Given the description of an element on the screen output the (x, y) to click on. 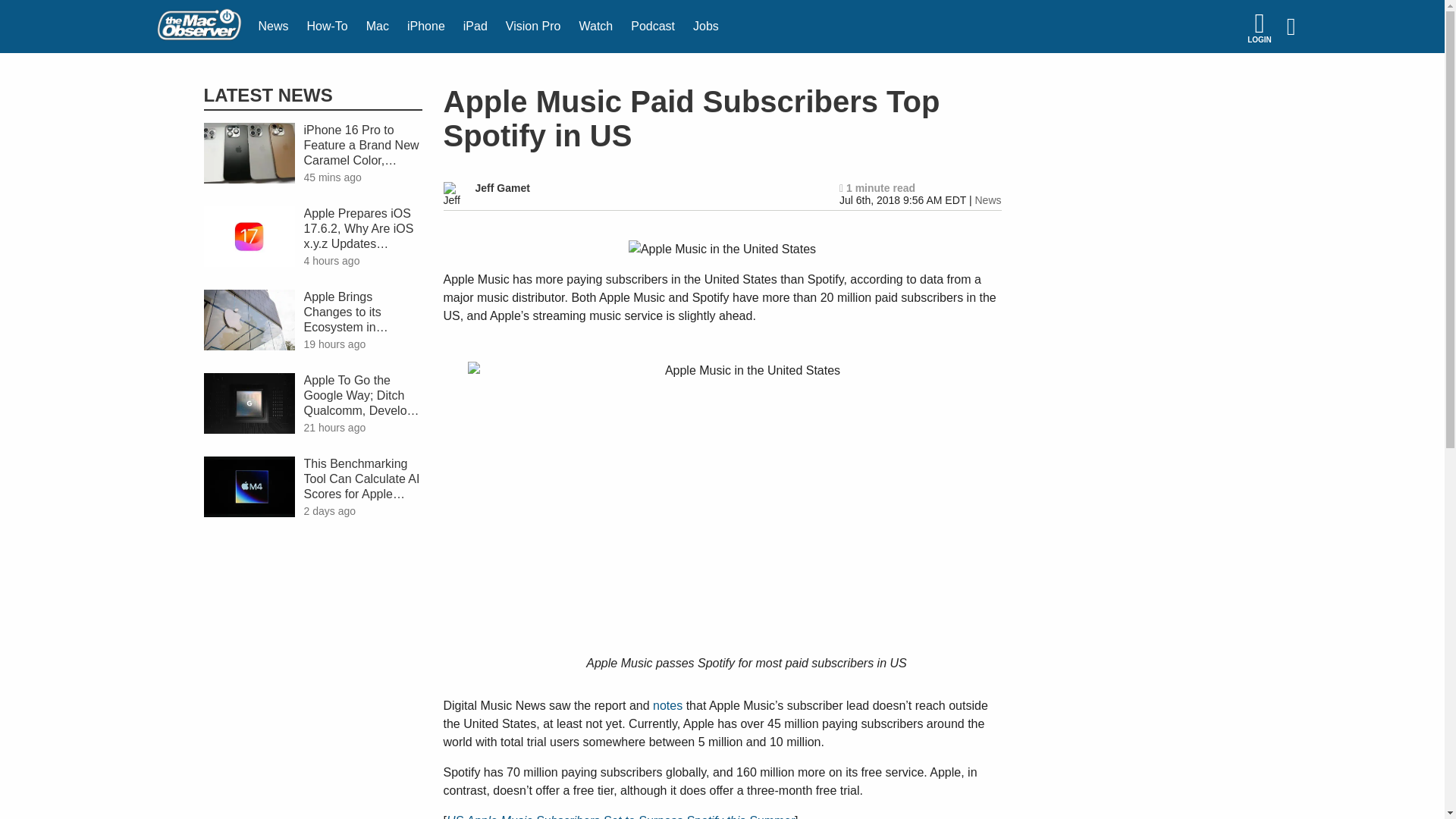
Vision Pro (533, 26)
Vision Pro (533, 26)
News (987, 200)
The Mac Observer (198, 26)
Podcast (652, 26)
Podcast (652, 26)
iPhone (425, 26)
News (272, 26)
